Given the description of an element on the screen output the (x, y) to click on. 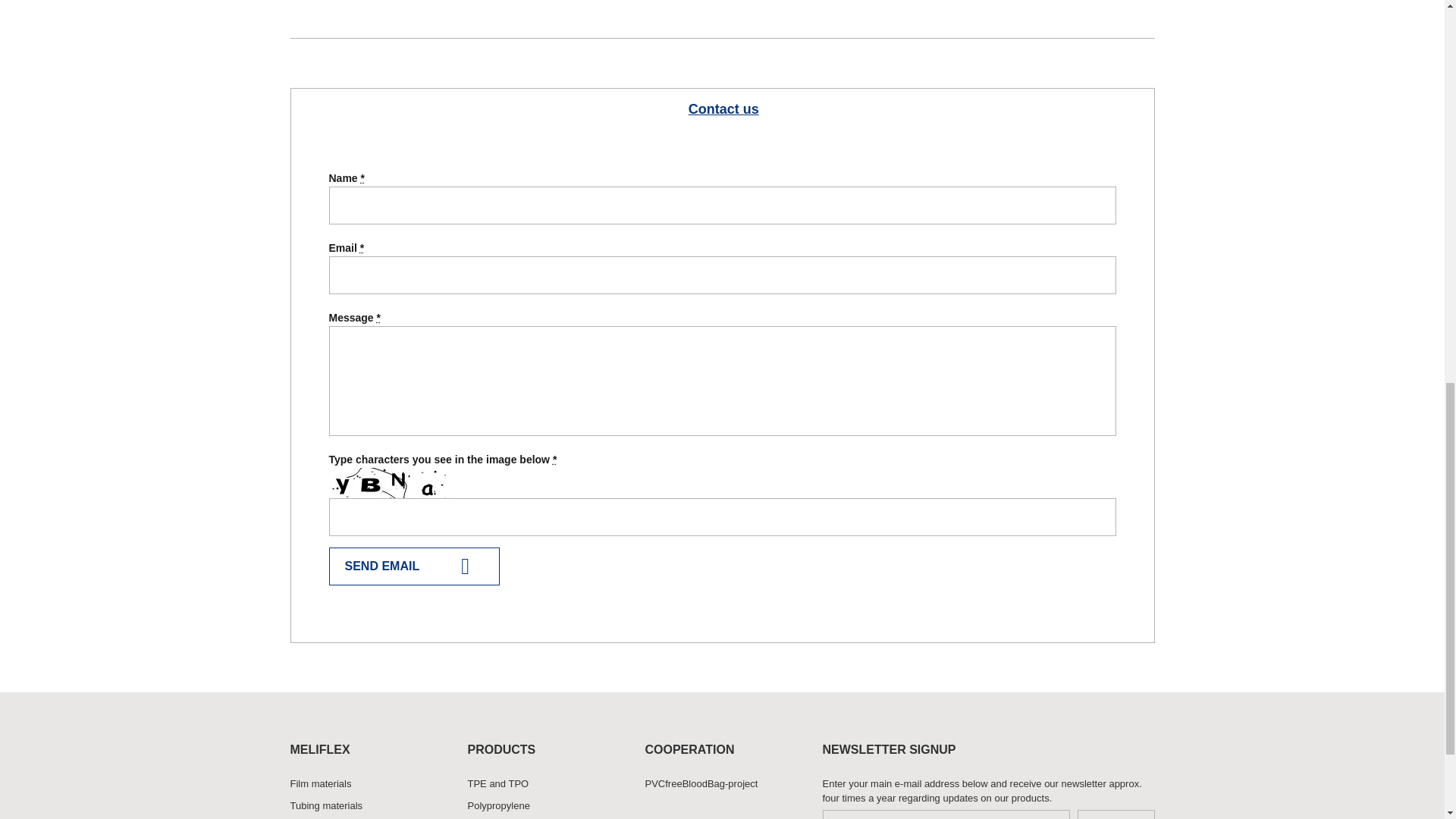
Film materials (366, 784)
Learn more about our film grades (366, 784)
TPE and TPO (544, 784)
Polypropylene (544, 806)
Tubing materials  (366, 806)
Sign up (1115, 814)
PVCfreeBloodBag-project (722, 784)
